Given the description of an element on the screen output the (x, y) to click on. 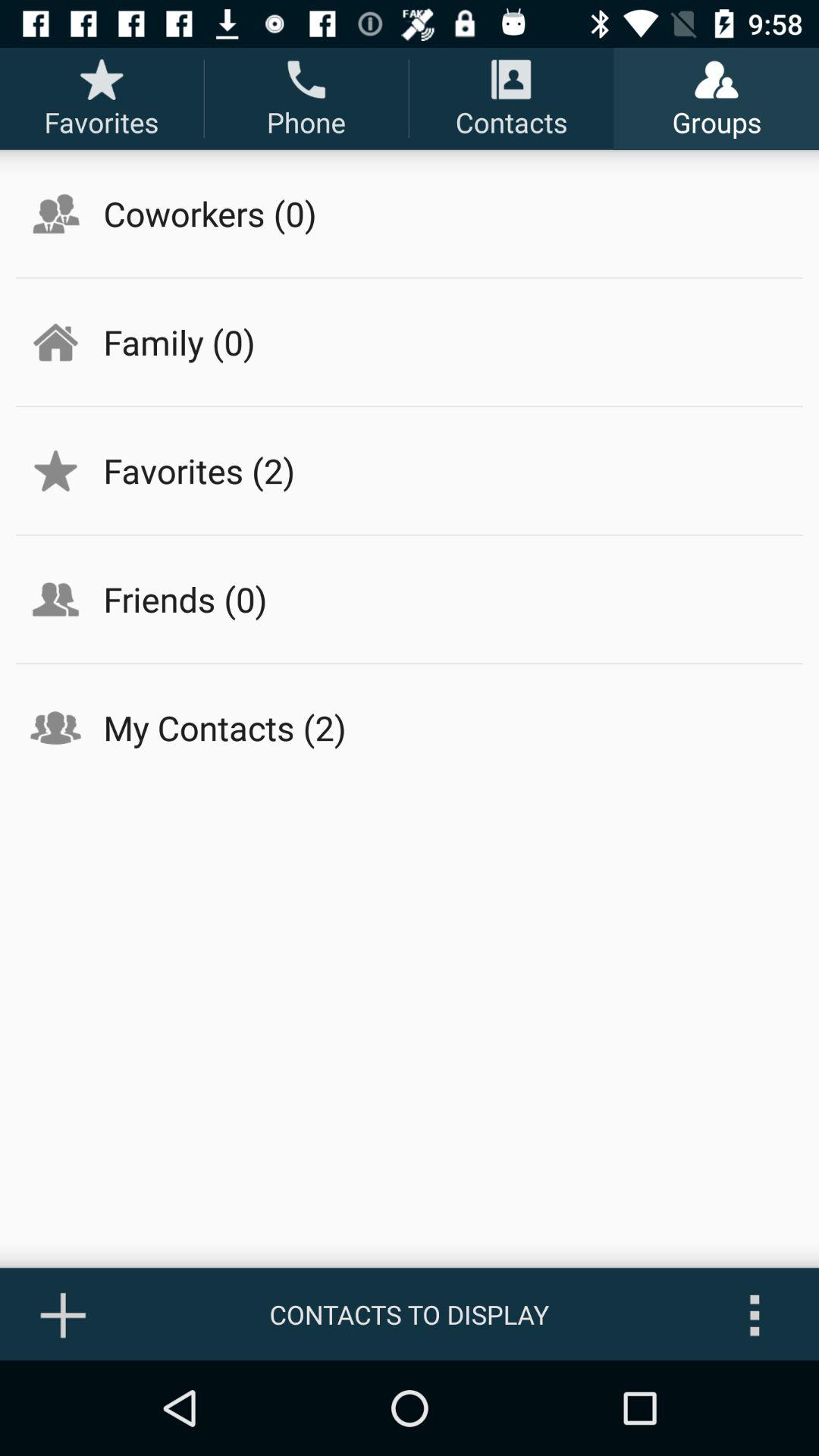
open the icon to the left of contacts to display (63, 1314)
